Given the description of an element on the screen output the (x, y) to click on. 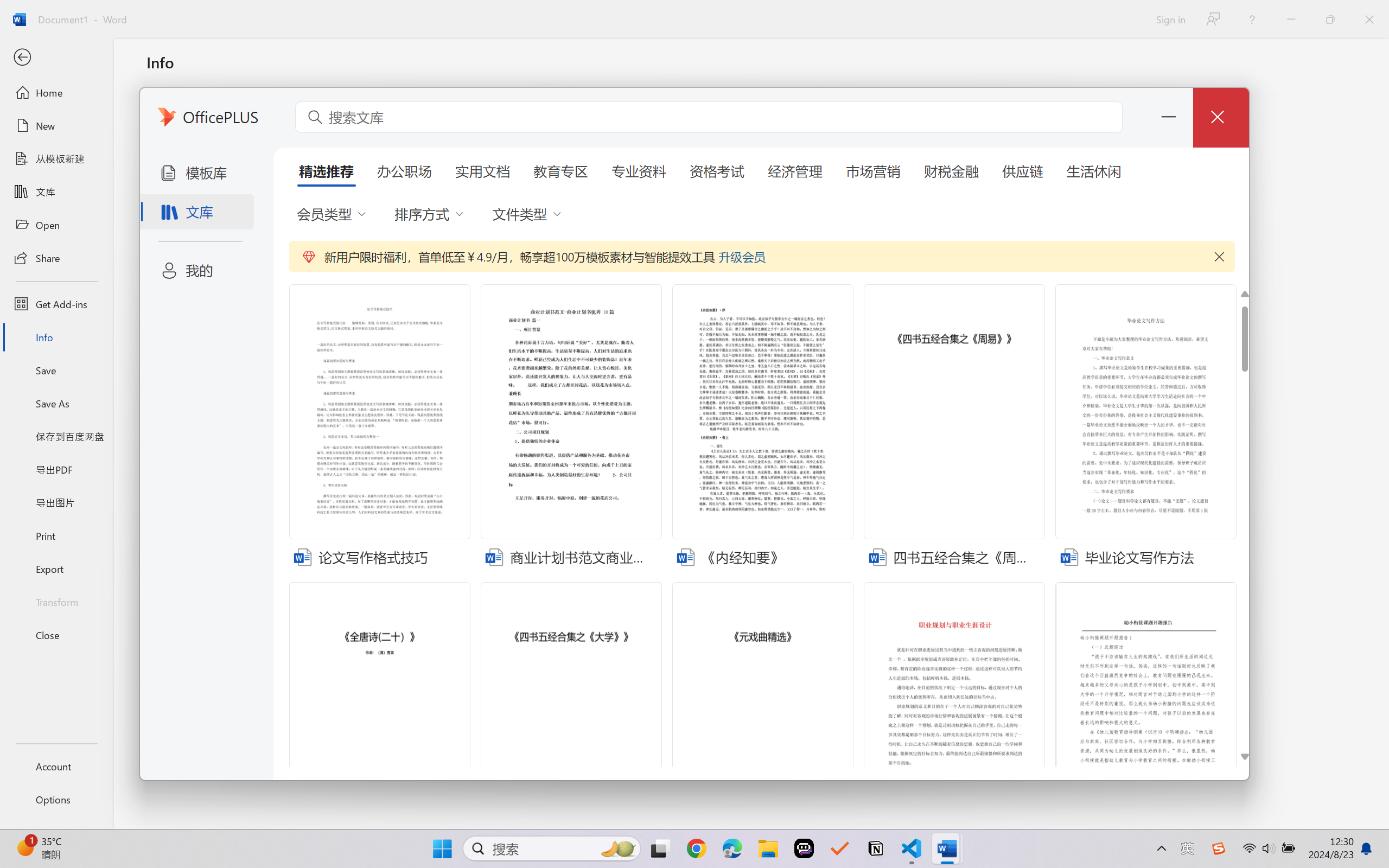
Info (56, 337)
Back (56, 57)
Print (56, 535)
